Given the description of an element on the screen output the (x, y) to click on. 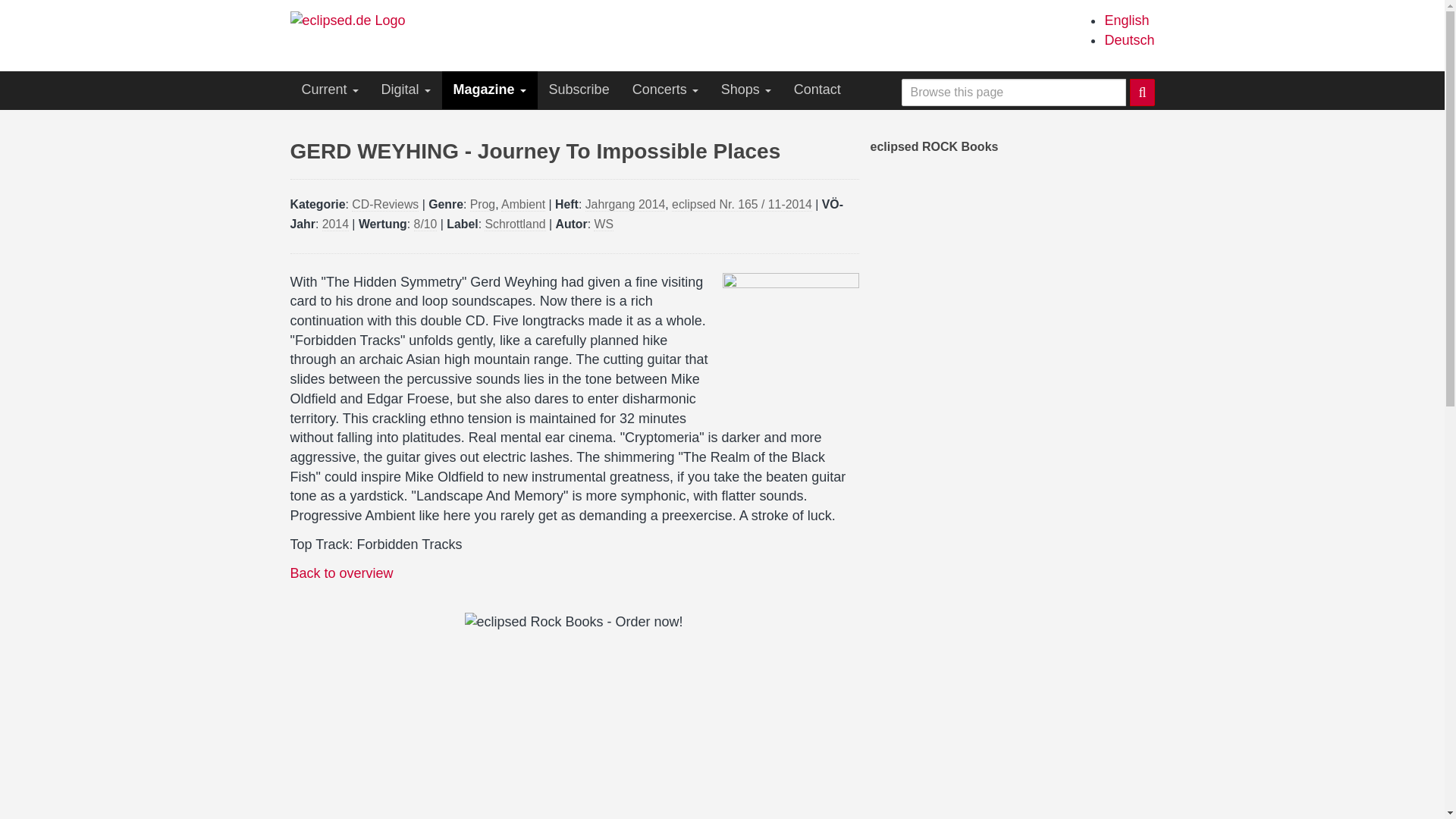
CD-Reviews (385, 204)
Subscribe (579, 89)
Concerts (665, 89)
Deutsch (1128, 39)
Ambient (522, 204)
GERD WEYHING - Journey To Impossible Places (1125, 20)
English (1125, 20)
Shops (746, 89)
Contact (817, 89)
